Given the description of an element on the screen output the (x, y) to click on. 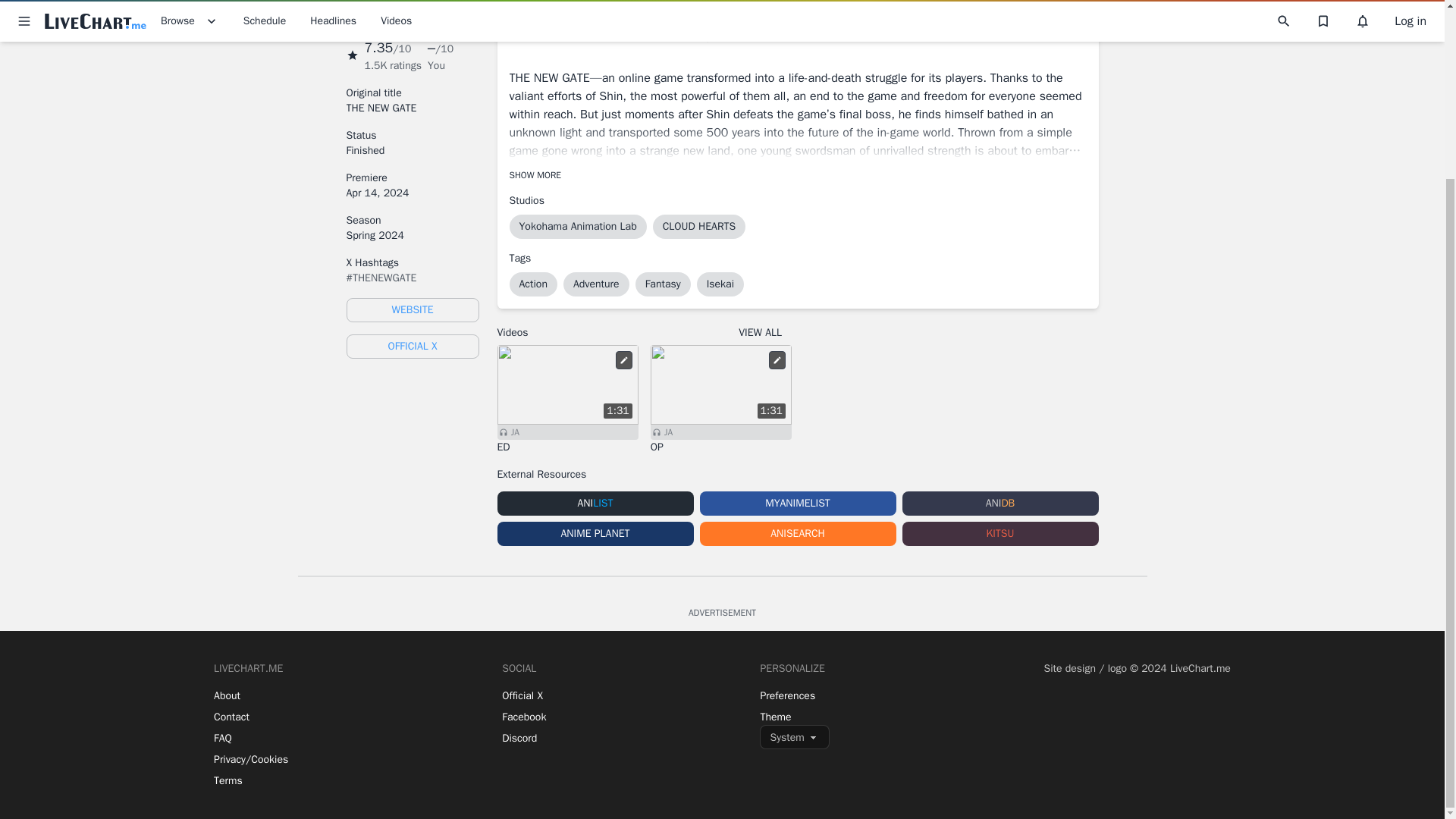
Suggest an Edit (777, 360)
OP (721, 447)
ED (568, 447)
Suggest an Edit (623, 360)
